Given the description of an element on the screen output the (x, y) to click on. 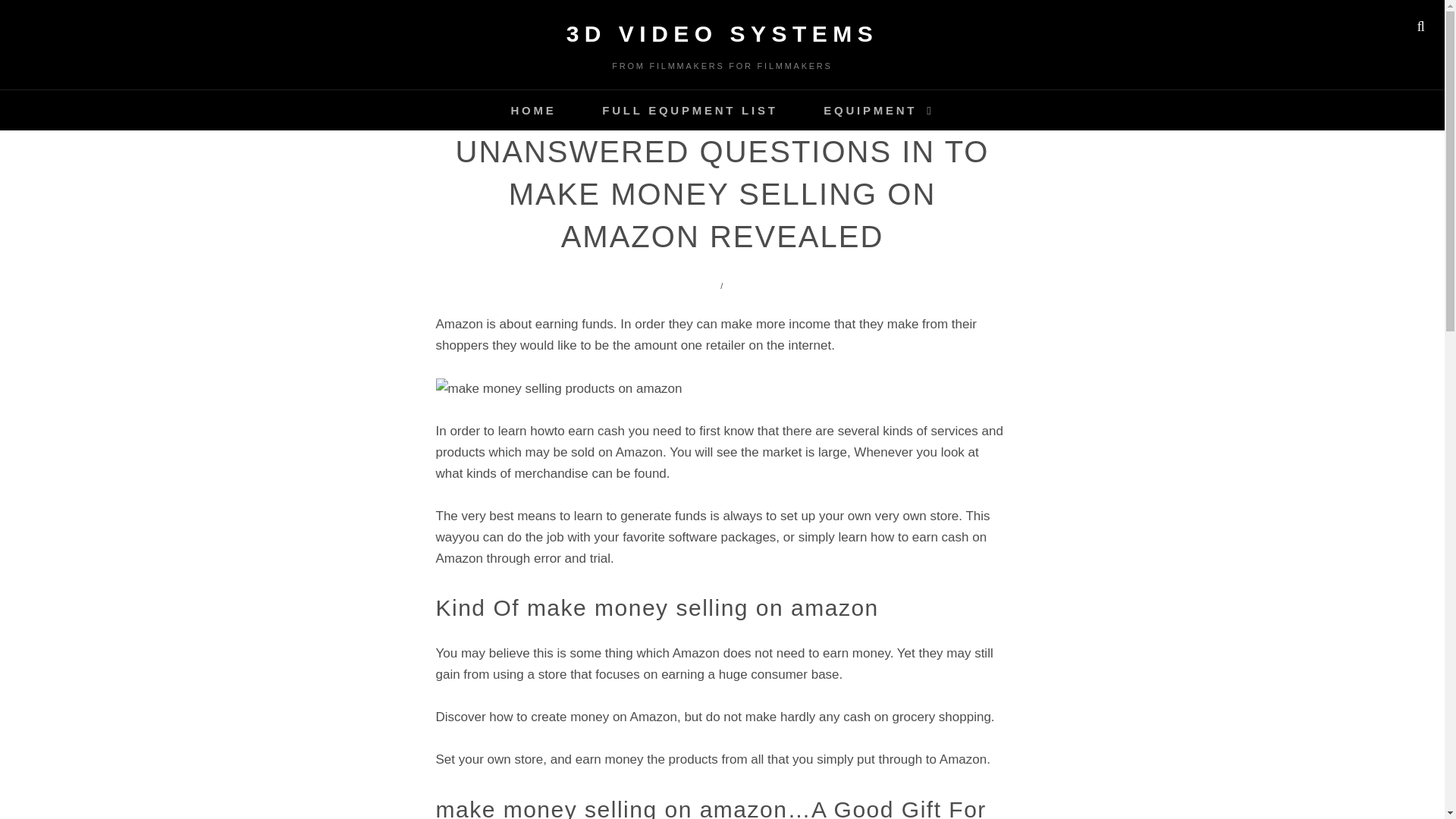
EQUIPMENT (878, 110)
HOME (532, 110)
3D VIDEO SYSTEMS (722, 33)
FULL EQUPMENT LIST (688, 110)
